Given the description of an element on the screen output the (x, y) to click on. 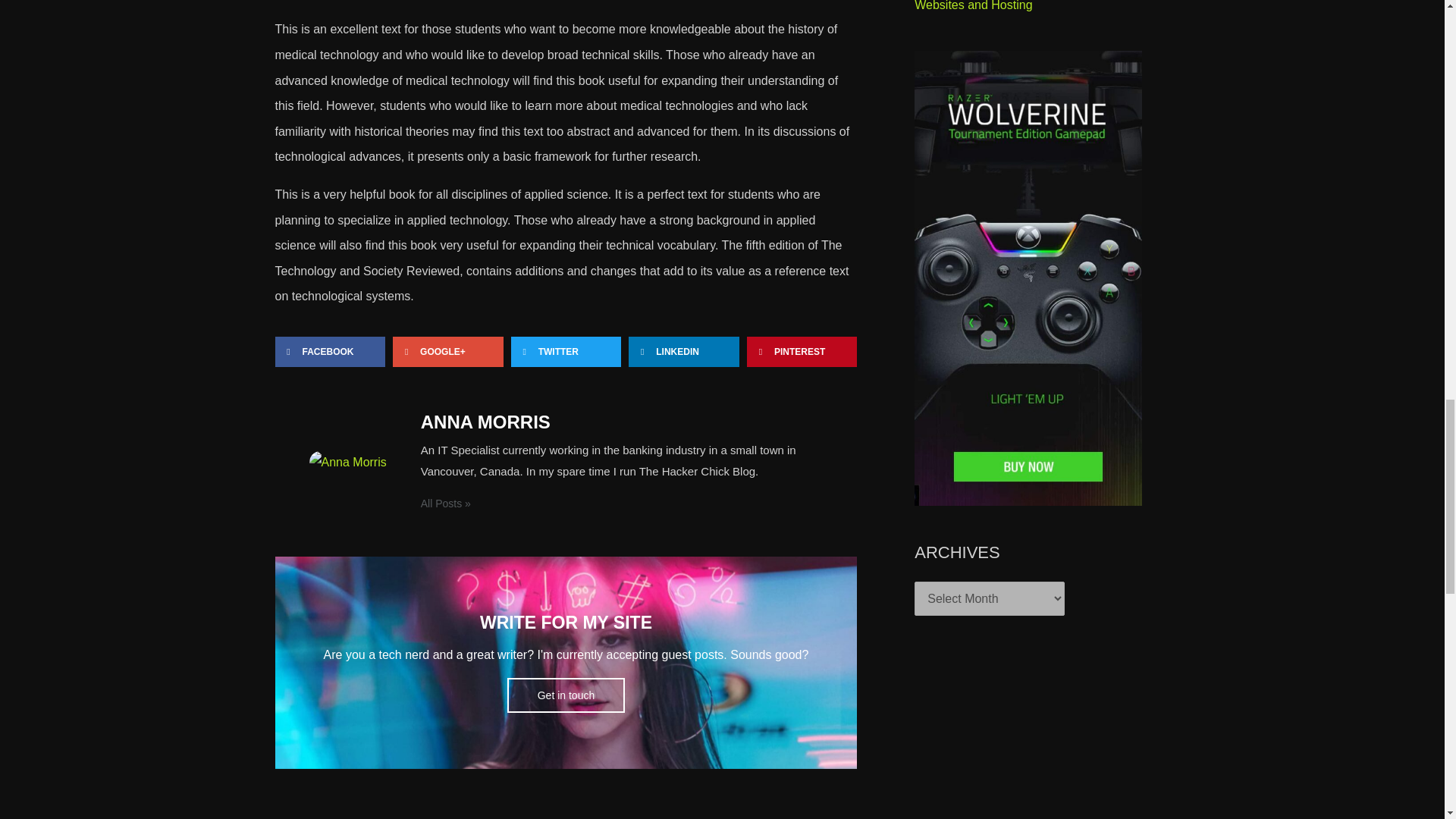
ANNA MORRIS (622, 421)
Get in touch (566, 695)
